Given the description of an element on the screen output the (x, y) to click on. 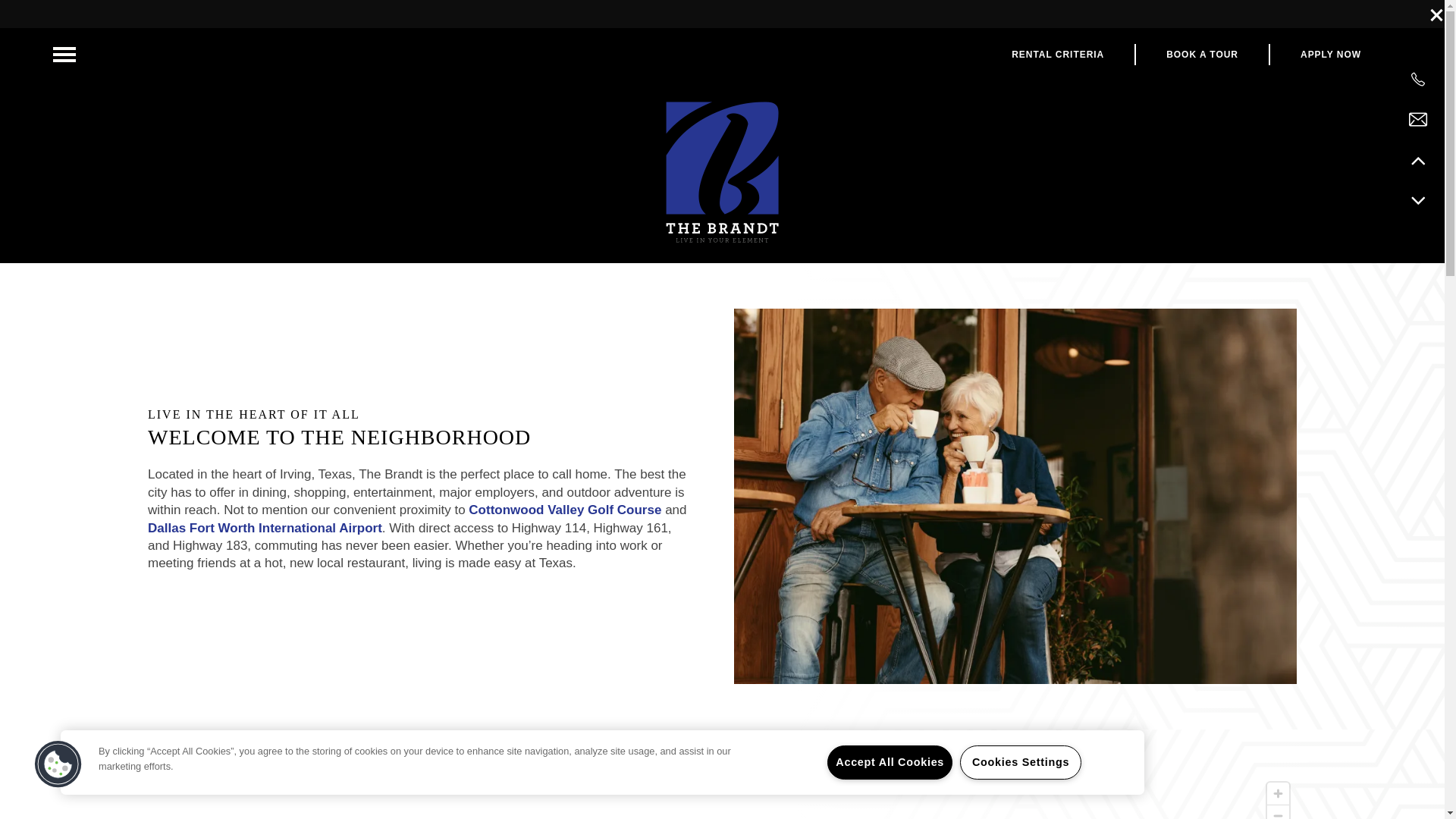
Email (1418, 119)
Scroll Up (1418, 159)
Zoom out (1277, 812)
Cookies Button (57, 764)
APPLY NOW (1330, 55)
Dallas Fort Worth International Airport (264, 527)
RENTAL CRITERIA (1058, 54)
Cottonwood Valley Golf Course (564, 509)
Zoom in (1277, 793)
Scroll Down (1418, 199)
BOOK A TOUR (1202, 54)
Phone Number (1418, 79)
